Given the description of an element on the screen output the (x, y) to click on. 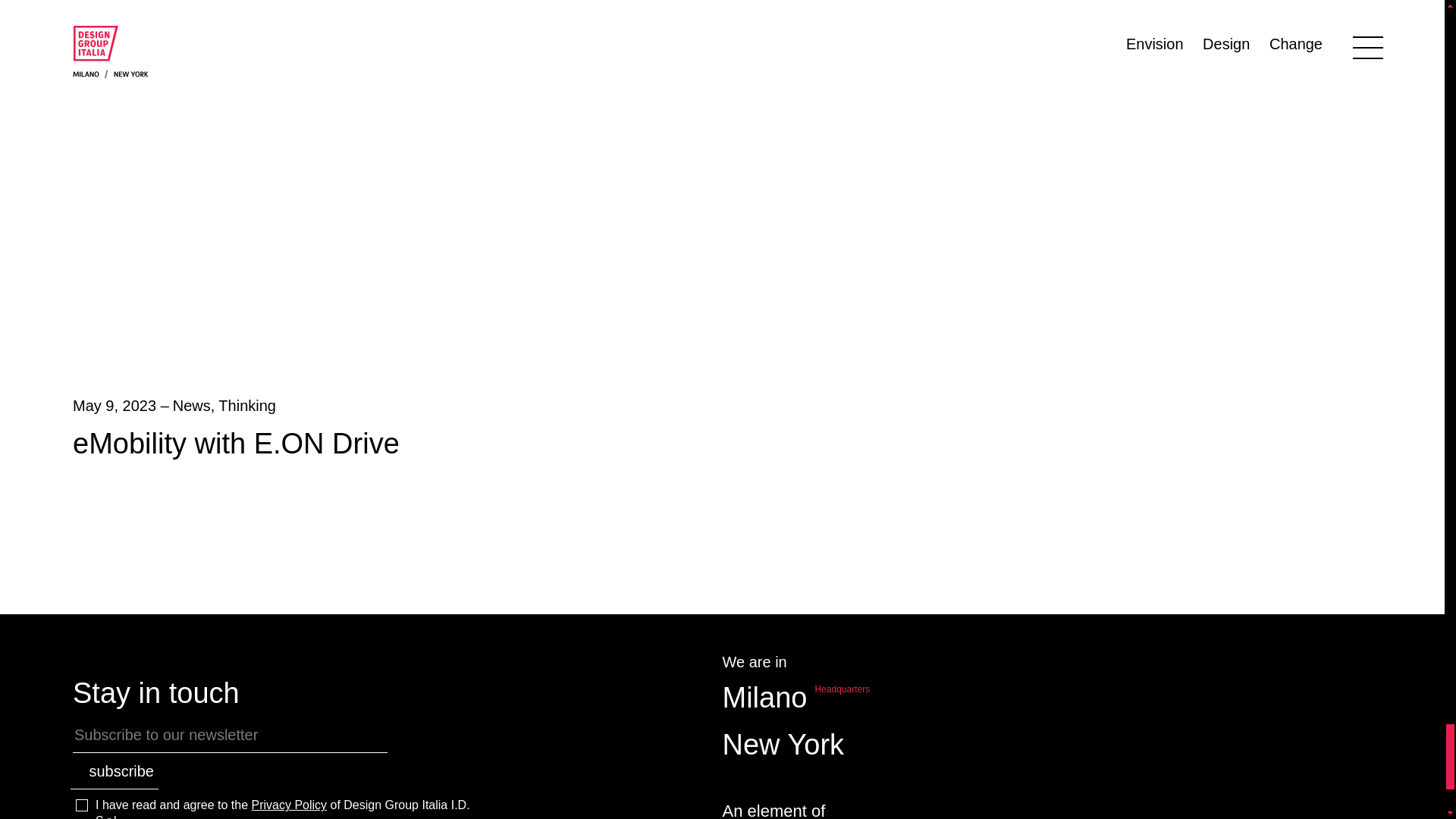
subscribe (113, 774)
1 (81, 805)
